Given the description of an element on the screen output the (x, y) to click on. 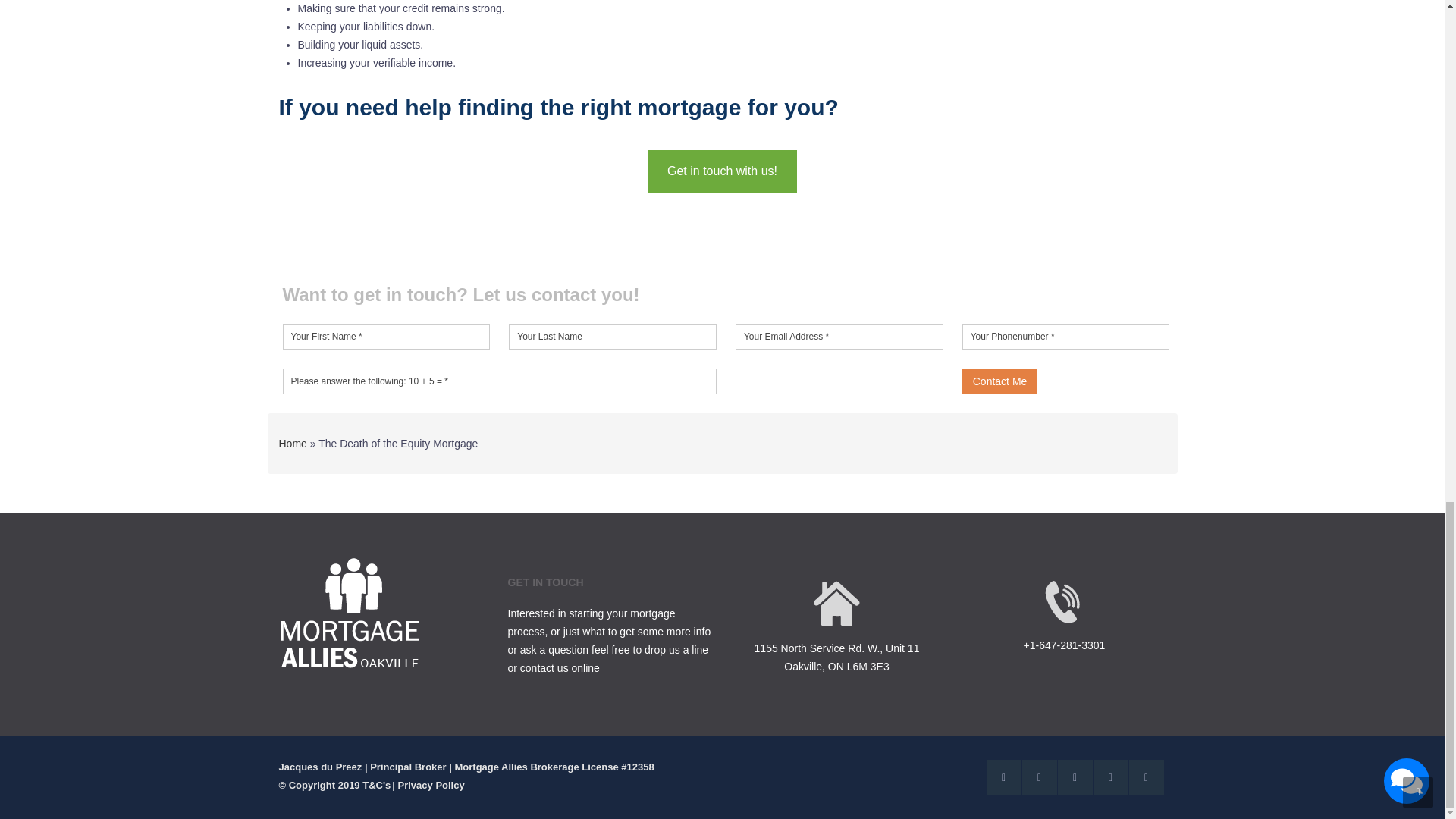
Home (293, 443)
Contact Us (721, 170)
Get in touch with us! (721, 170)
Privacy Policy (431, 785)
